Given the description of an element on the screen output the (x, y) to click on. 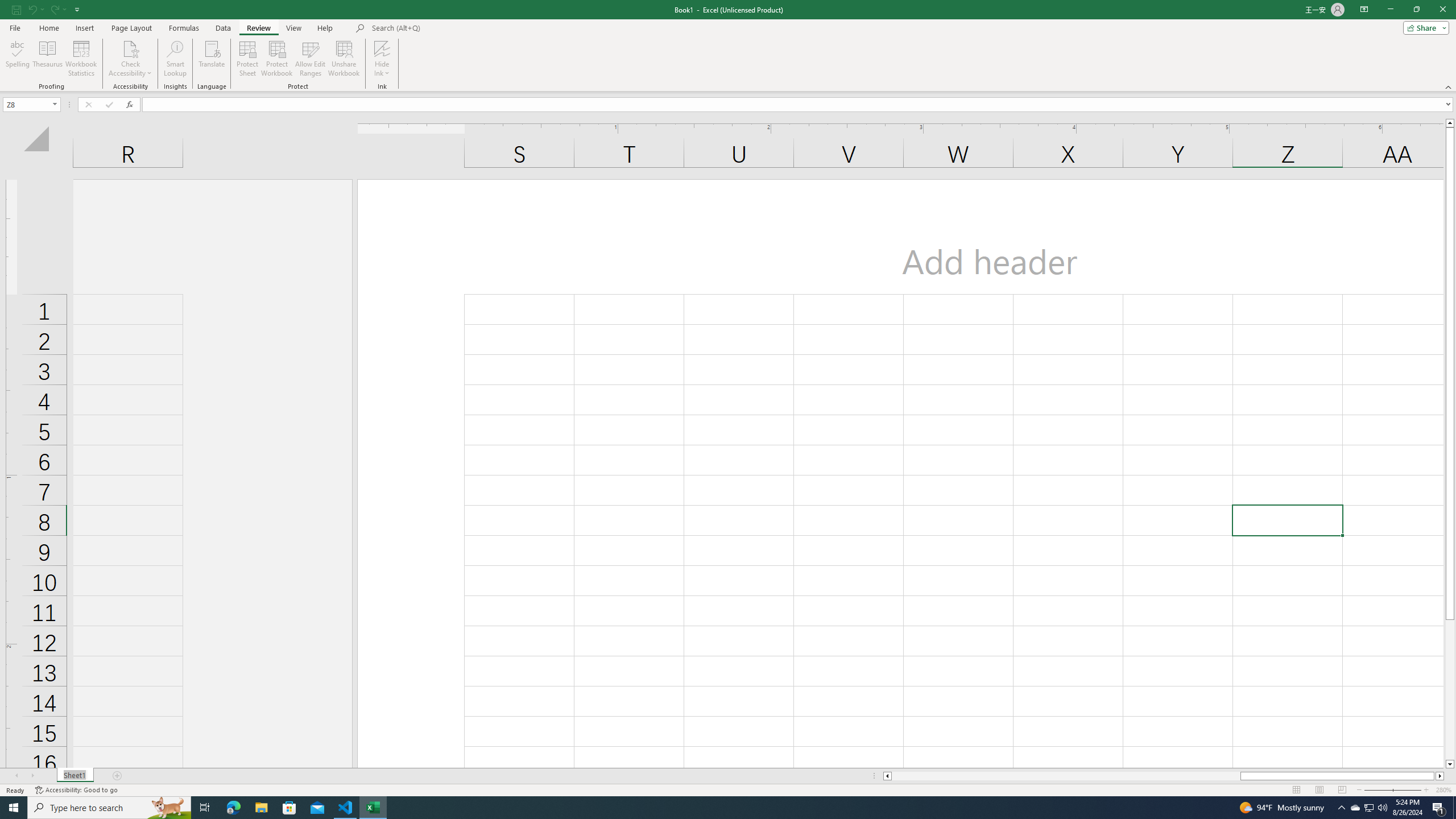
Smart Lookup (175, 58)
Allow Edit Ranges (310, 58)
